Given the description of an element on the screen output the (x, y) to click on. 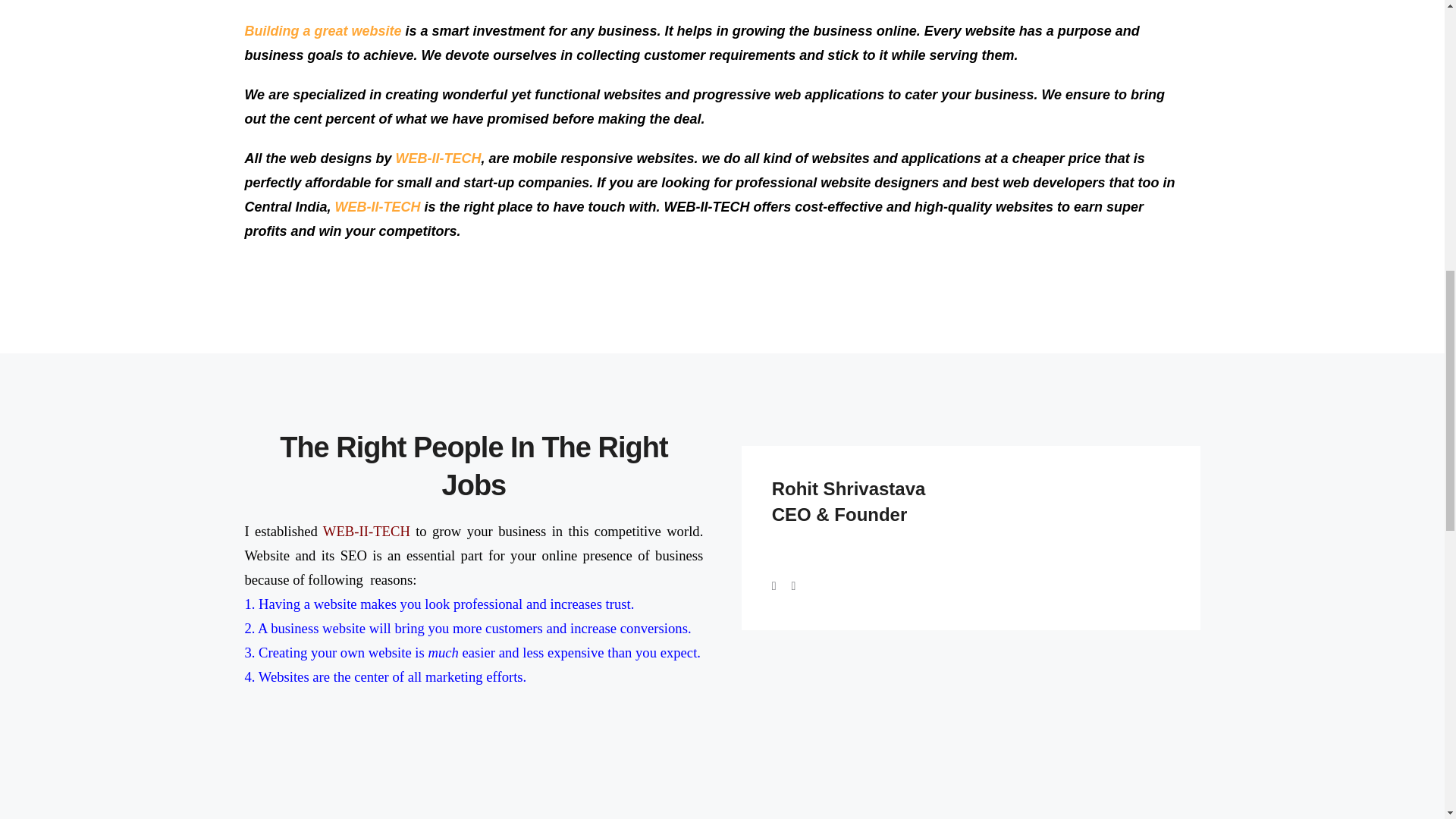
WEB-II-TECH (377, 206)
Building a great website (322, 30)
WEB-II-TECH (438, 158)
